Given the description of an element on the screen output the (x, y) to click on. 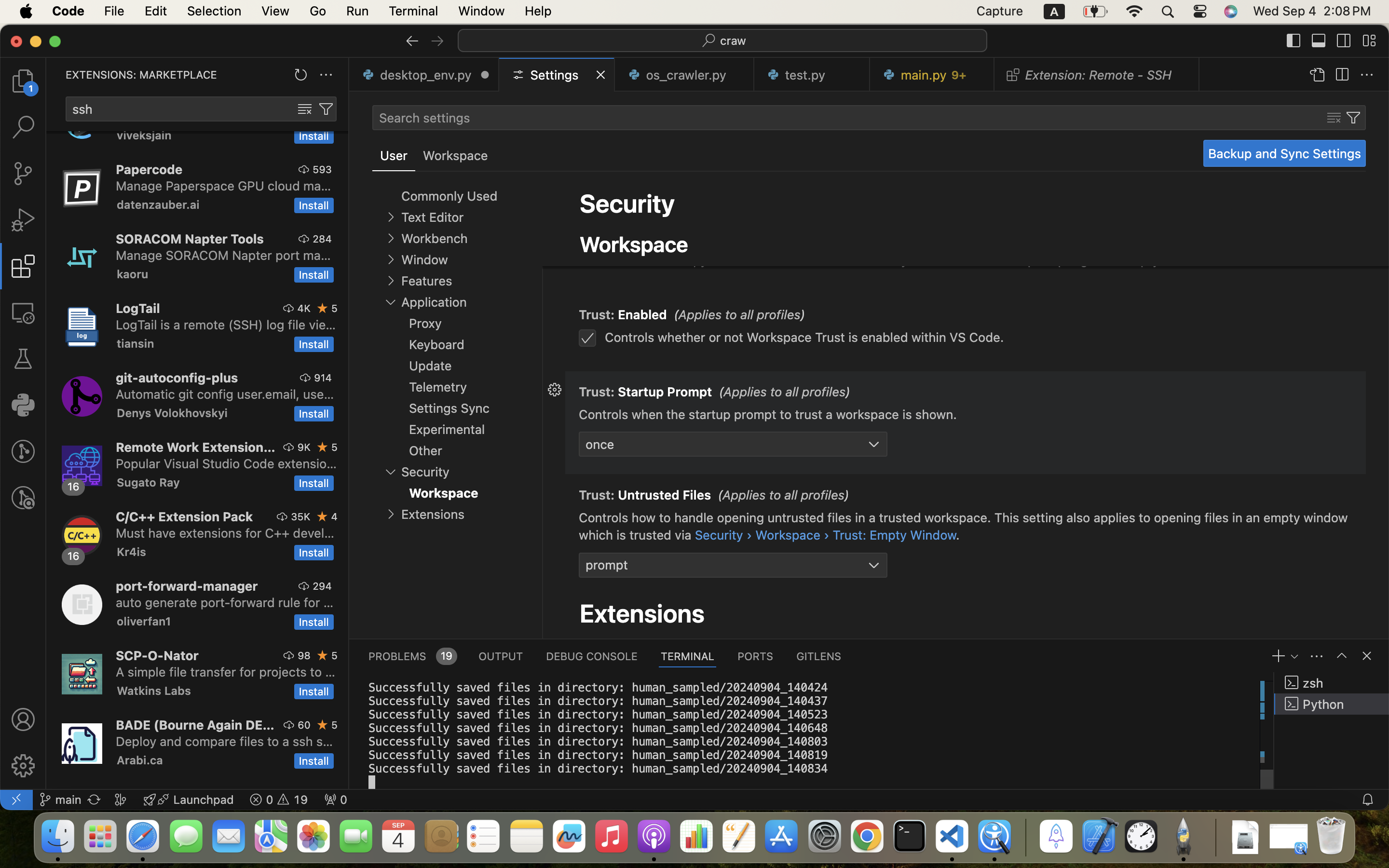
LogTail is a remote (SSH) log file viewer and monitoring extension. Element type: AXStaticText (225, 324)
Manage SORACOM Napter port mappings from Visual Studio Code. Element type: AXStaticText (222, 254)
Update Element type: AXStaticText (430, 365)
Untrusted Files Element type: AXStaticText (664, 495)
SCP-O-Nator Element type: AXStaticText (156, 655)
